Given the description of an element on the screen output the (x, y) to click on. 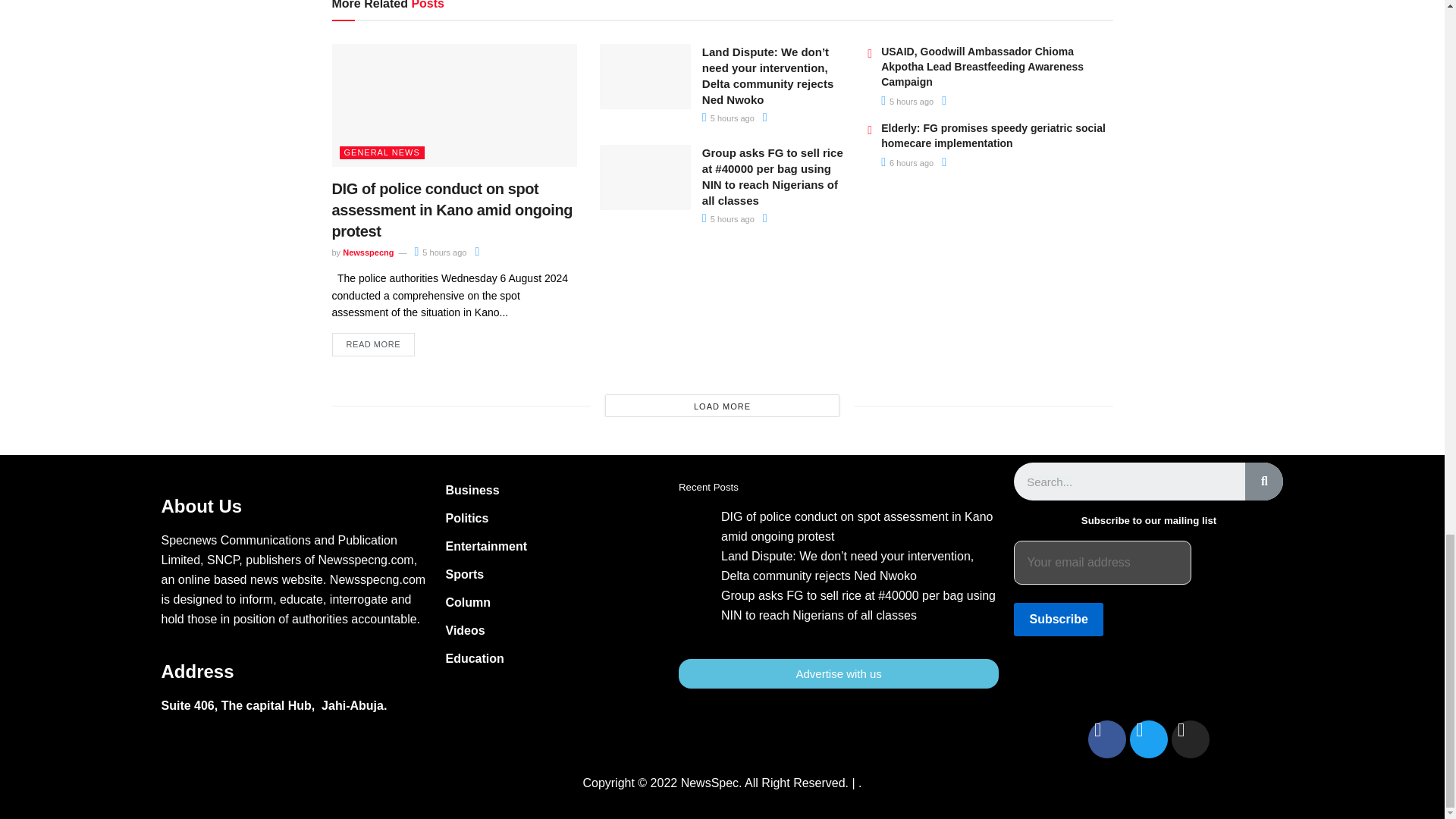
Search (1128, 481)
Subscribe (1057, 619)
Search (1263, 481)
